Given the description of an element on the screen output the (x, y) to click on. 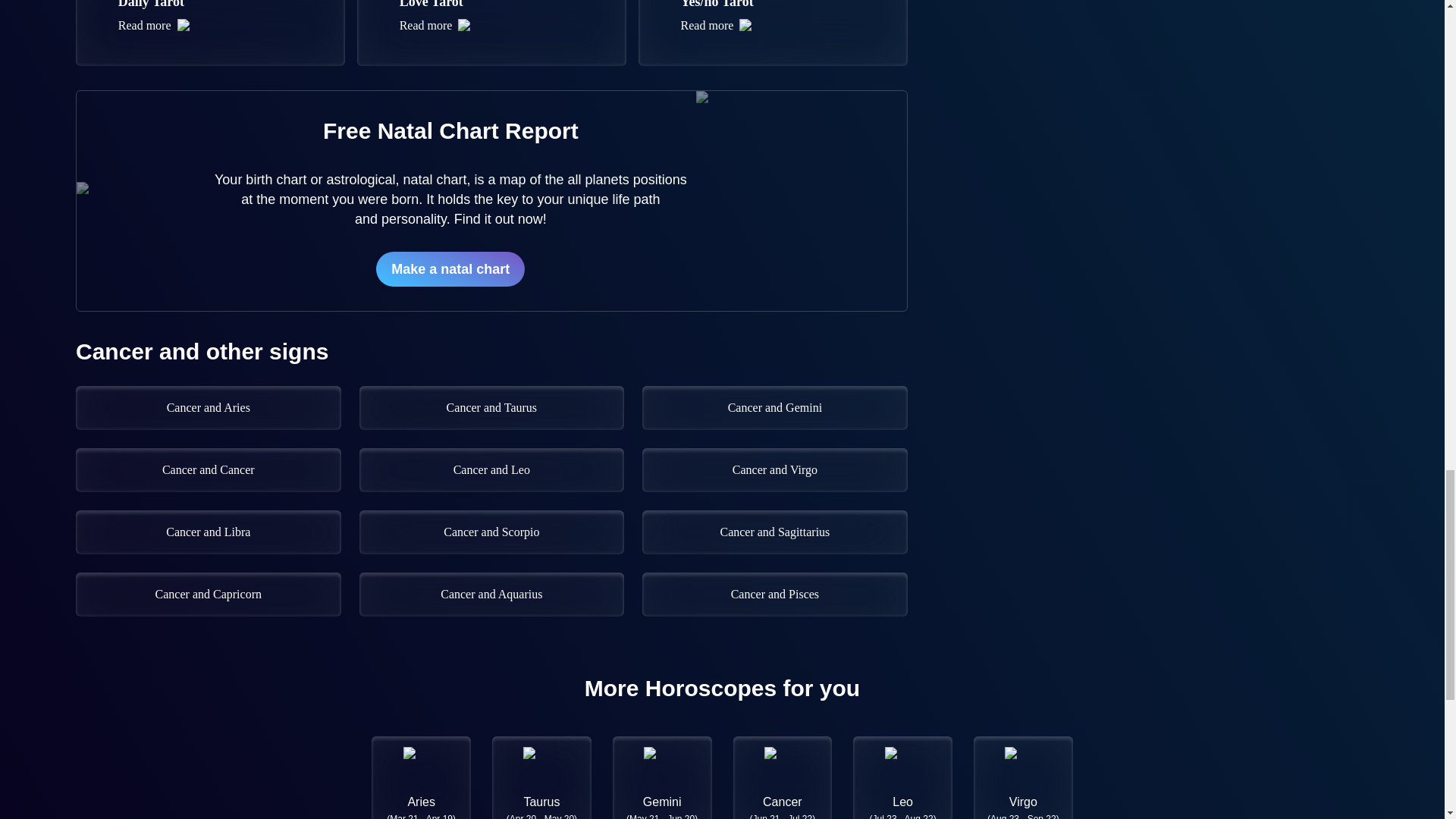
cancer and Aries (207, 407)
Make a natal chart (449, 268)
Make a natal chart (450, 269)
cancer and Scorpio (491, 532)
cancer and Pisces (774, 594)
cancer and Libra (207, 532)
cancer and Aquarius (491, 594)
cancer and Taurus (491, 407)
cancer and Sagittarius (491, 33)
cancer and Virgo (774, 532)
cancer and Gemini (210, 33)
cancer and Leo (774, 469)
cancer and Capricorn (774, 407)
